Given the description of an element on the screen output the (x, y) to click on. 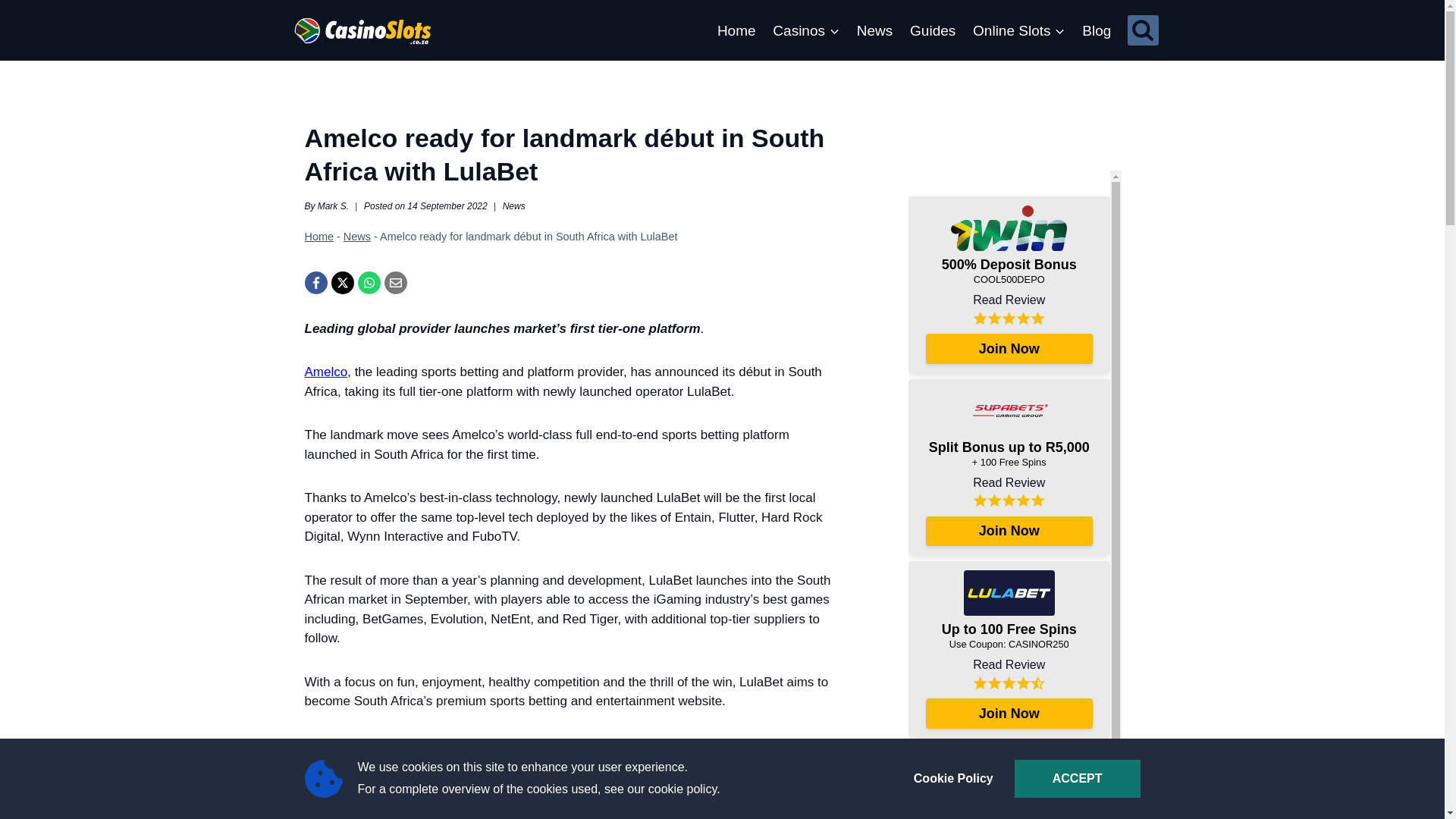
Guides (932, 30)
Blog (1096, 30)
Casinos (805, 30)
Amelco (325, 371)
News (357, 236)
Home (319, 236)
News (513, 205)
Online Slots (1018, 30)
Home (734, 30)
News (874, 30)
